Given the description of an element on the screen output the (x, y) to click on. 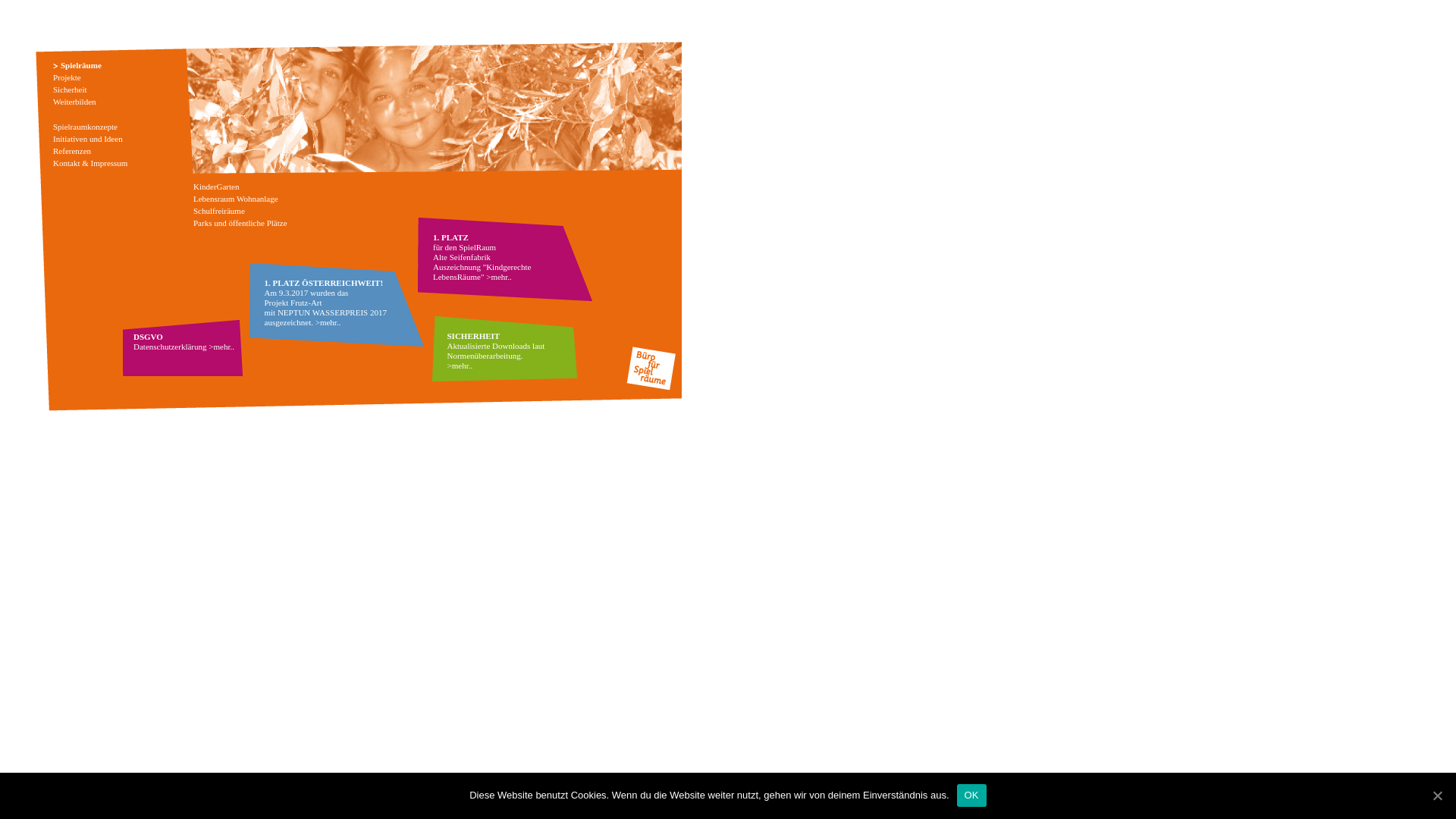
>mehr.. Element type: text (221, 346)
>mehr.. Element type: text (328, 321)
Lebensraum Wohnanlage Element type: text (235, 198)
Weiterbilden Element type: text (74, 101)
KinderGarten Element type: text (215, 186)
>mehr.. Element type: text (498, 276)
>mehr Element type: text (457, 365)
Initiativen und Ideen Element type: text (87, 138)
Kontakt & Impressum Element type: text (90, 162)
Referenzen Element type: text (72, 150)
Sicherheit Element type: text (70, 89)
OK Element type: text (971, 795)
Projekte Element type: text (67, 76)
Spielraumkonzepte Element type: text (85, 126)
